Given the description of an element on the screen output the (x, y) to click on. 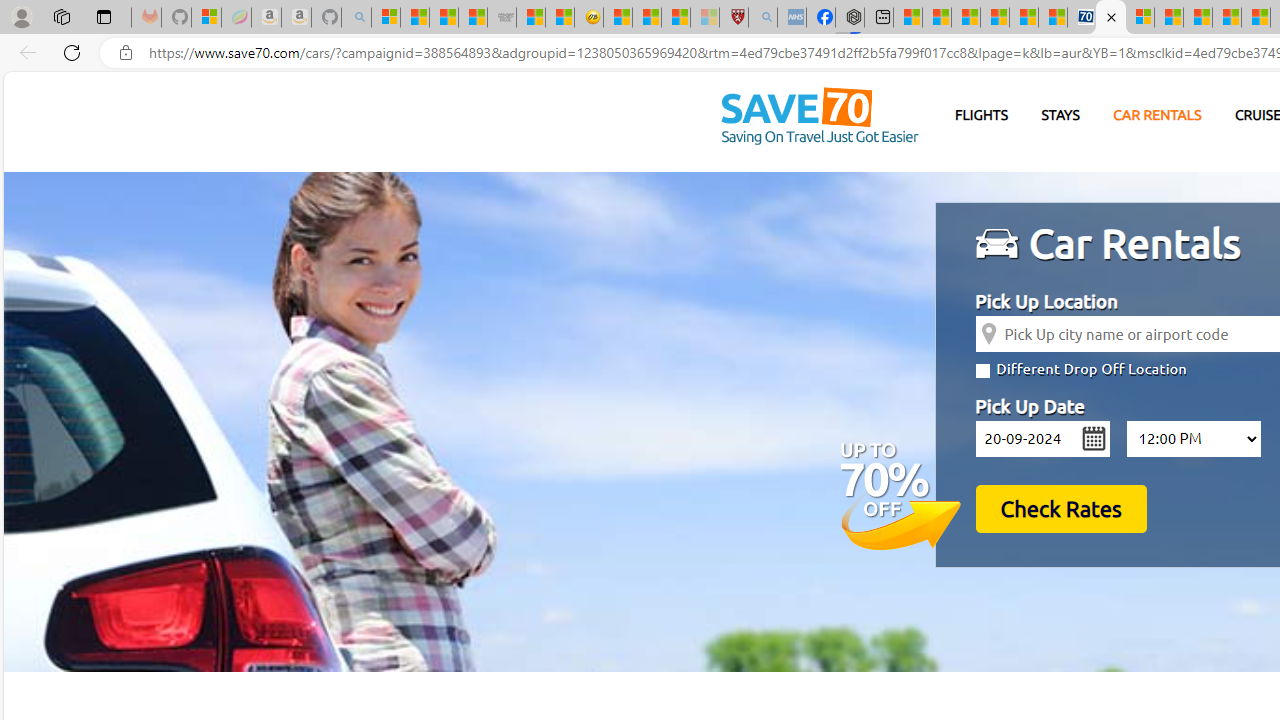
CAR RENTALS (1157, 115)
STAYS (1060, 115)
Check Rates (1060, 507)
FLIGHTS (981, 115)
